Given the description of an element on the screen output the (x, y) to click on. 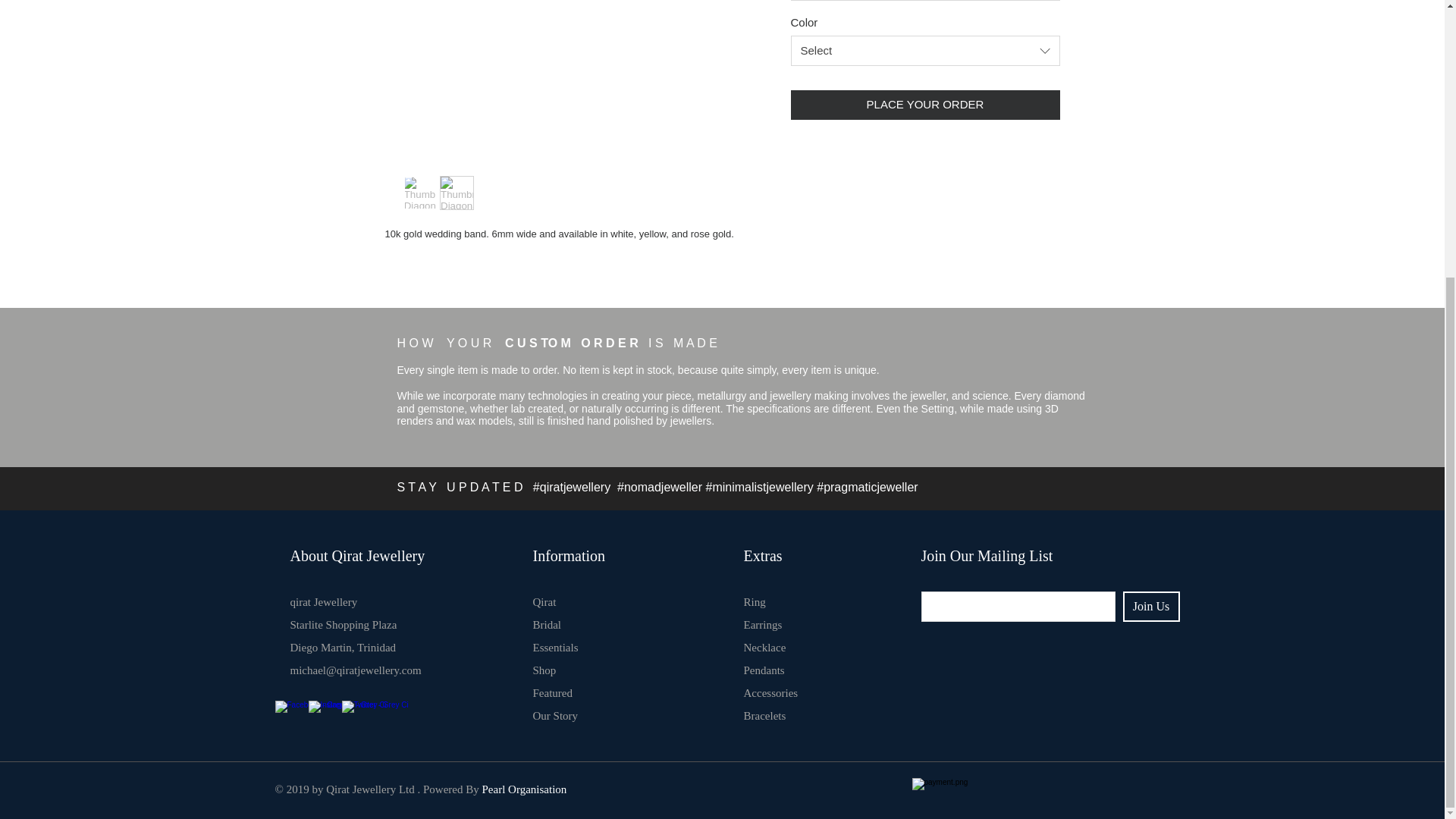
PLACE YOUR ORDER (924, 104)
Qirat (544, 601)
Select (924, 51)
